Given the description of an element on the screen output the (x, y) to click on. 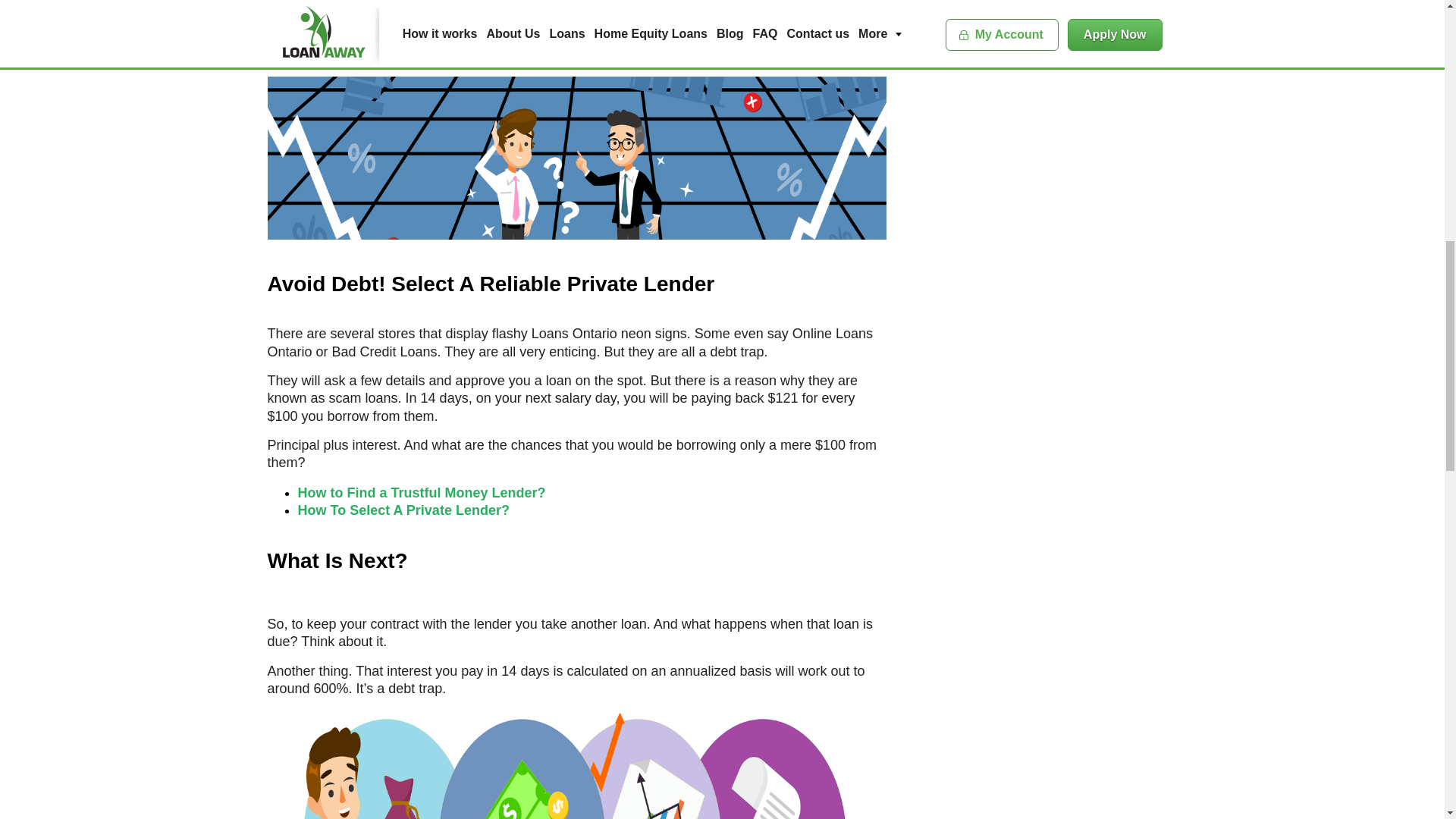
Financial Crises And How Loans Can Help (575, 157)
How to Find a Trustful Money Lender? (420, 492)
How To Select A Private Lender?  (404, 509)
Financial Crises And How Loans Can Help (575, 764)
